Given the description of an element on the screen output the (x, y) to click on. 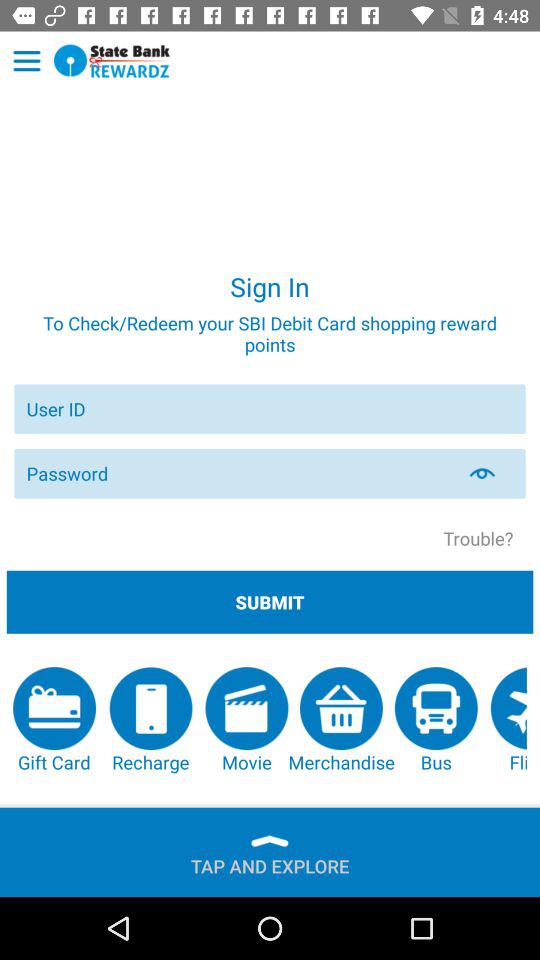
jump to the bus icon (435, 720)
